Given the description of an element on the screen output the (x, y) to click on. 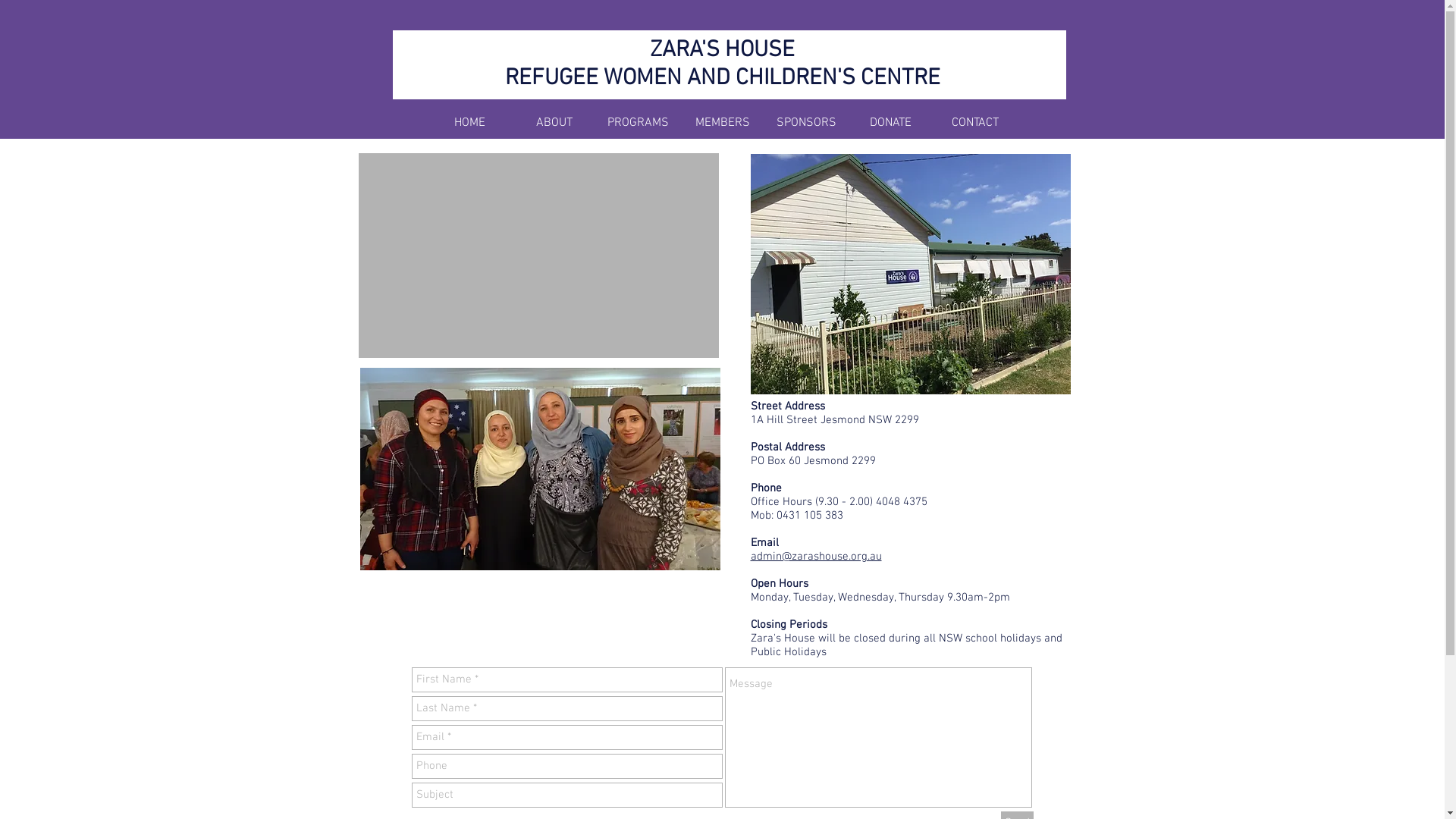
Google Maps Element type: hover (538, 255)
MEMBERS Element type: text (722, 122)
ZARA'S HOUSE Element type: text (721, 50)
PROGRAMS Element type: text (638, 122)
admin@zarashouse.org.au Element type: text (815, 556)
Open Hours Element type: text (779, 583)
SPONSORS Element type: text (806, 122)
ABOUT Element type: text (553, 122)
REFUGEE WOMEN AND CHILDREN'S CENTRE Element type: text (722, 78)
CONTACT Element type: text (974, 122)
DONATE Element type: text (890, 122)
HOME Element type: text (469, 122)
